Given the description of an element on the screen output the (x, y) to click on. 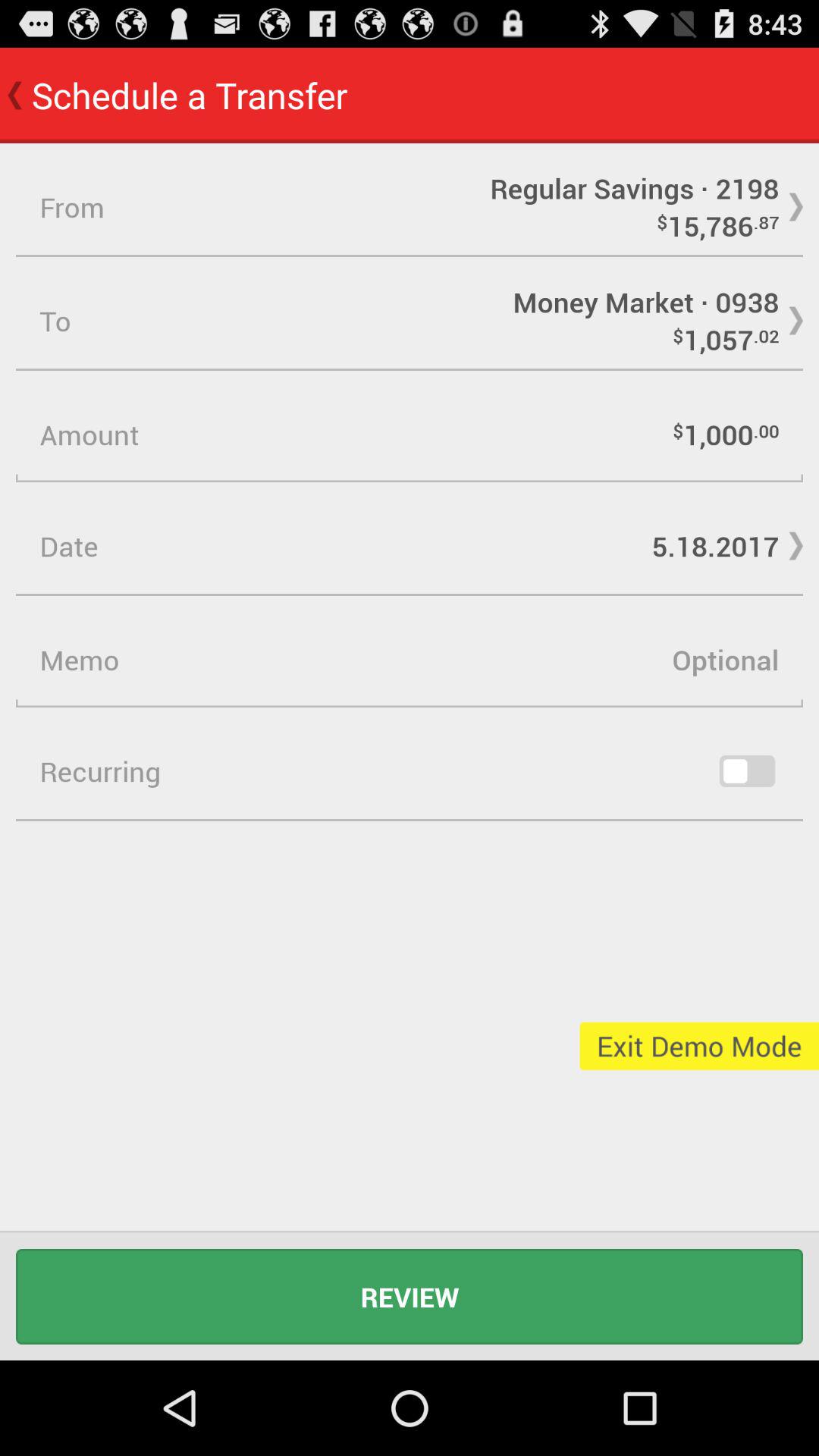
select memo option above the recurring (409, 659)
